Given the description of an element on the screen output the (x, y) to click on. 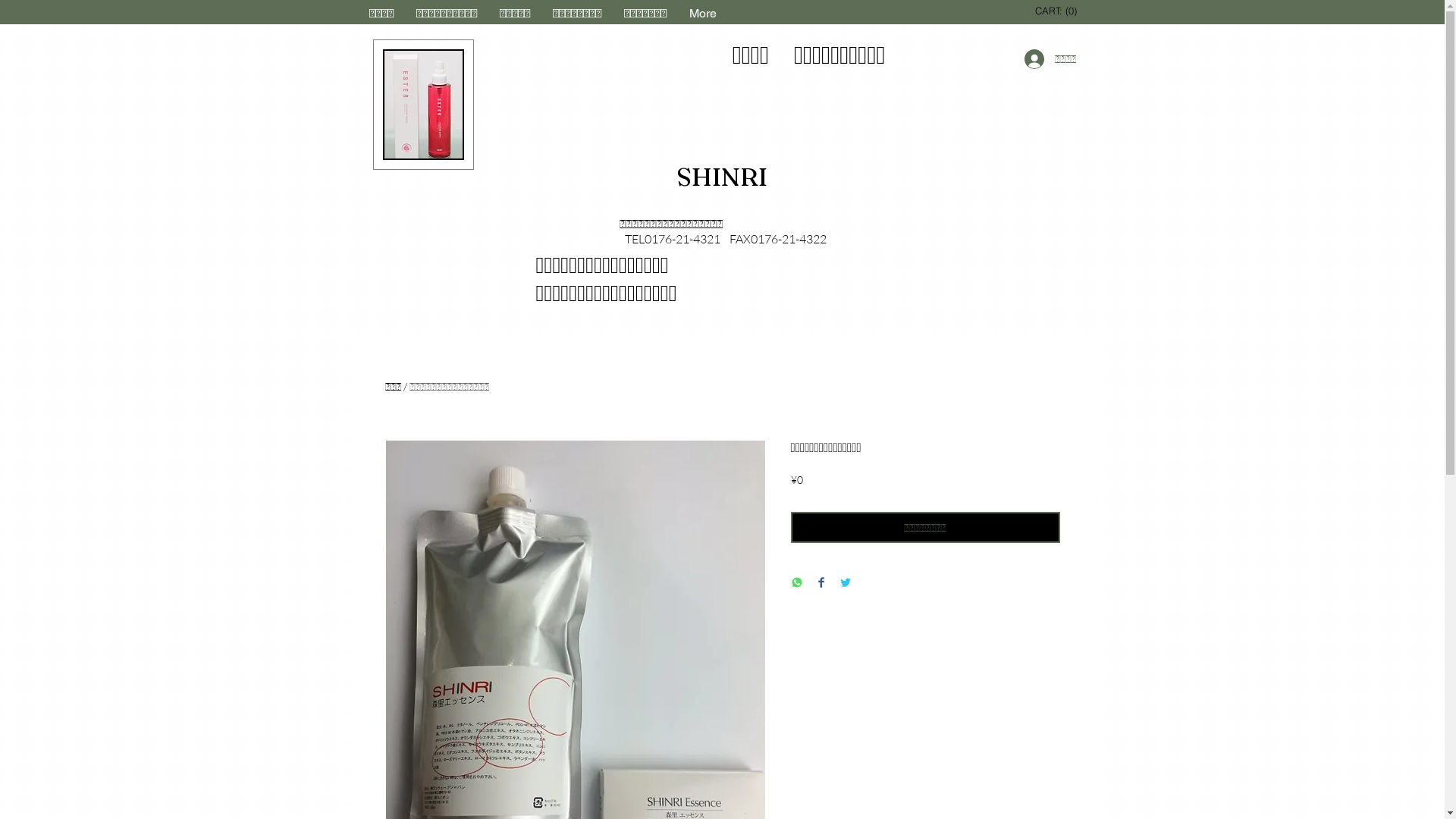
CART: (0) Element type: text (1057, 10)
